Given the description of an element on the screen output the (x, y) to click on. 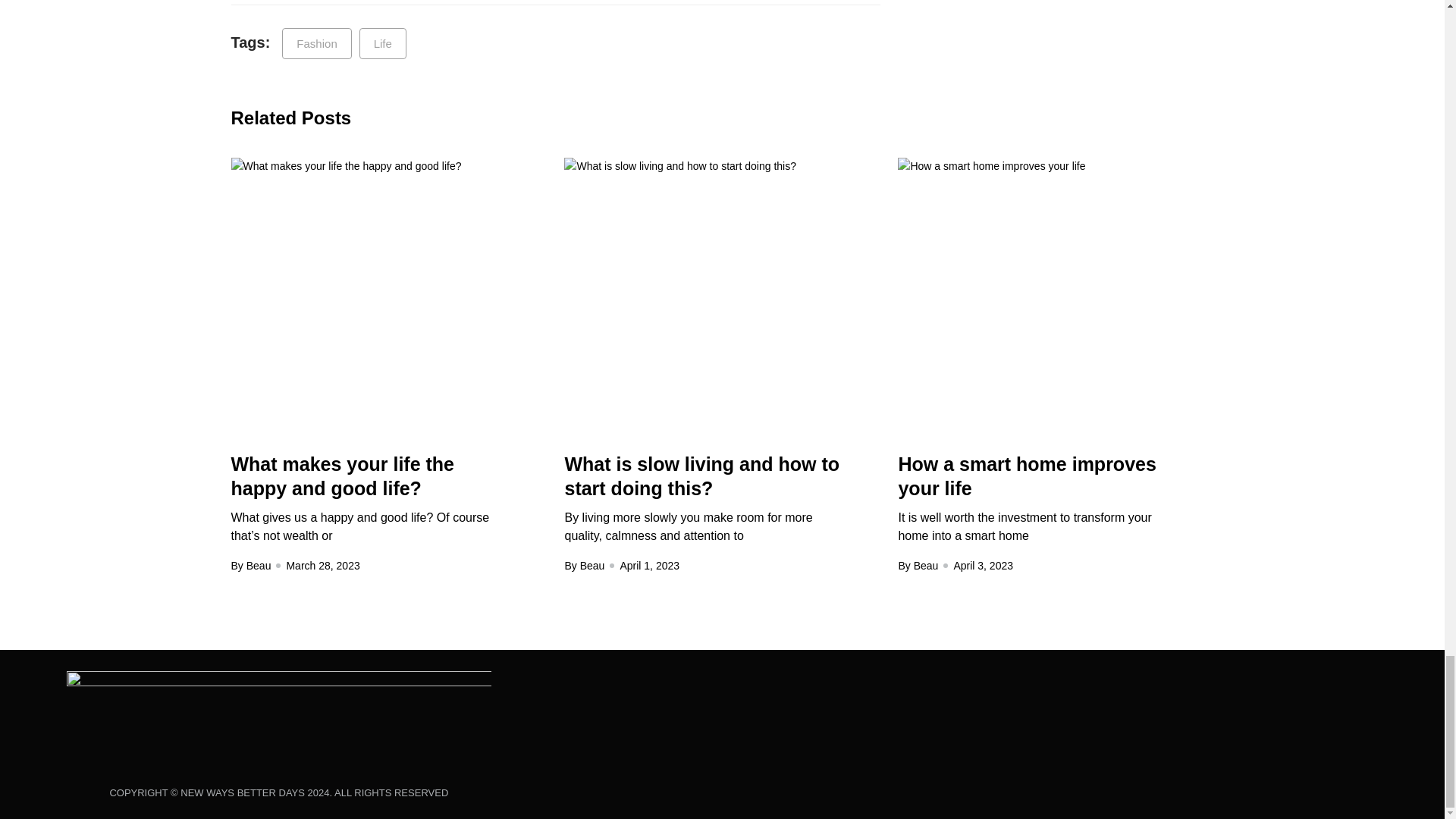
Fashion (316, 42)
Life (382, 42)
